Given the description of an element on the screen output the (x, y) to click on. 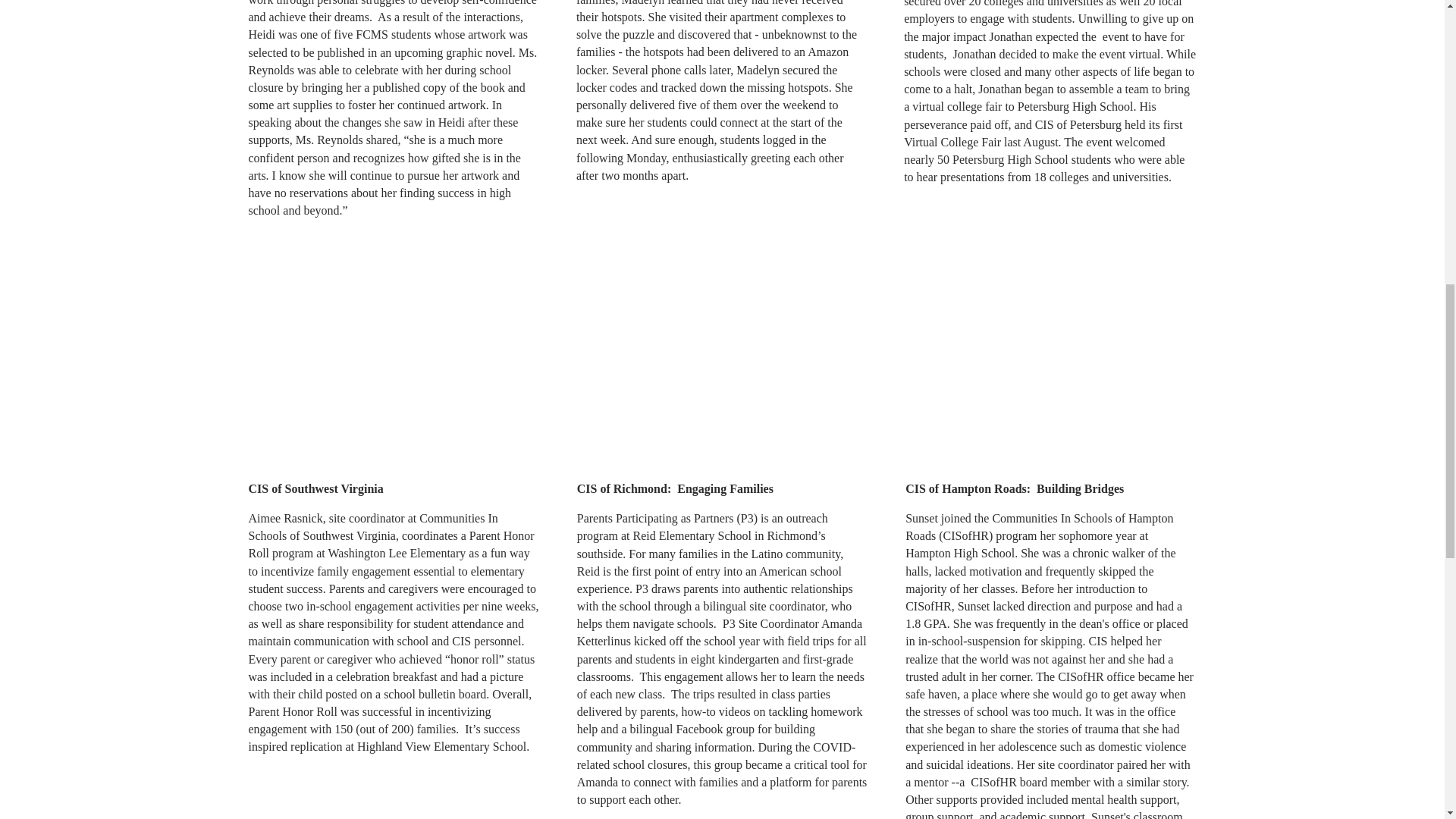
CIS Success Story from Hampton Roads (1050, 355)
Success Story in Richmond (721, 355)
Success Story in Southwest Virginia (393, 355)
